Given the description of an element on the screen output the (x, y) to click on. 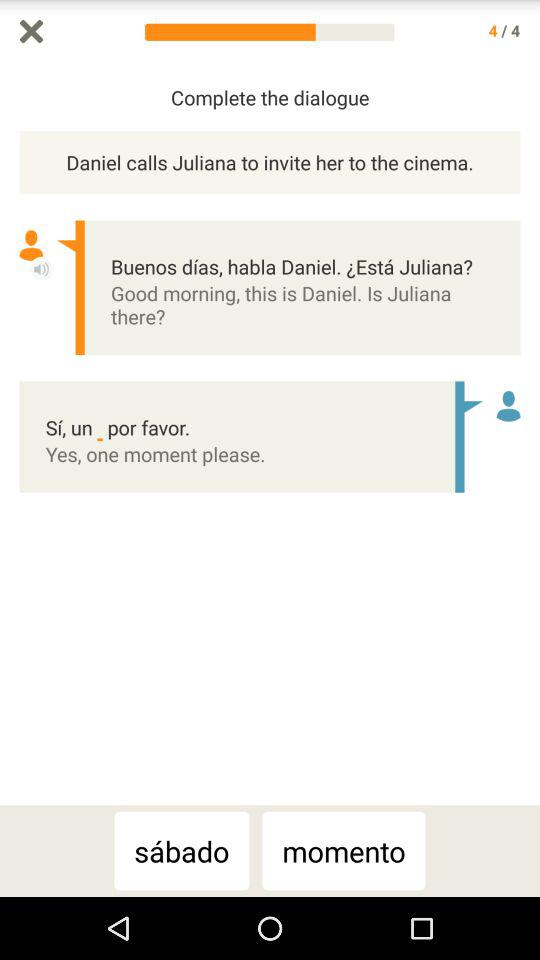
scroll up or down (530, 434)
